Given the description of an element on the screen output the (x, y) to click on. 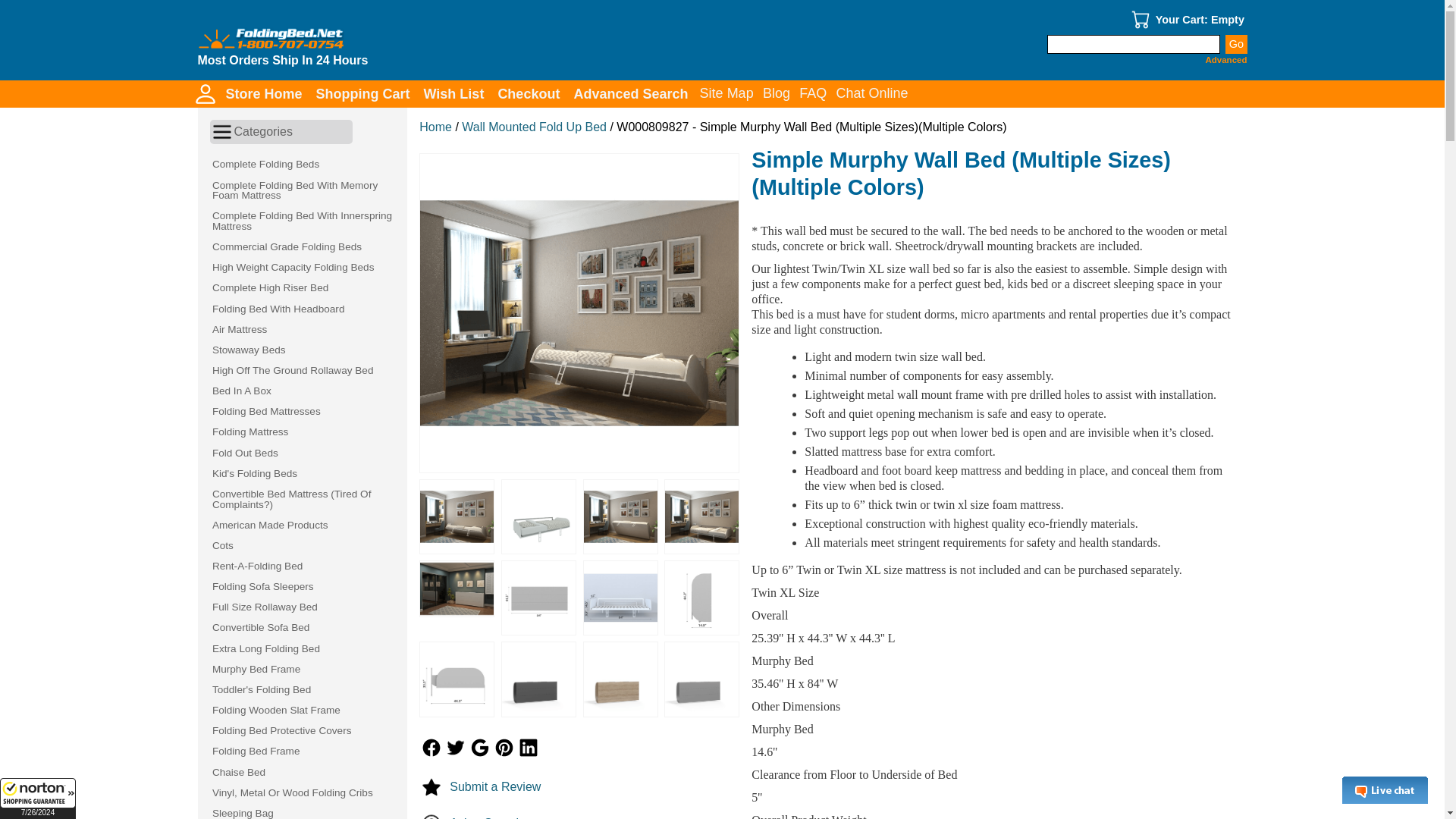
Home (435, 126)
Wall Mounted Fold Up Bed (534, 126)
Home (435, 126)
Unused iFrame 1 (37, 798)
Wall Mounted Fold Up Bed (534, 126)
